Given the description of an element on the screen output the (x, y) to click on. 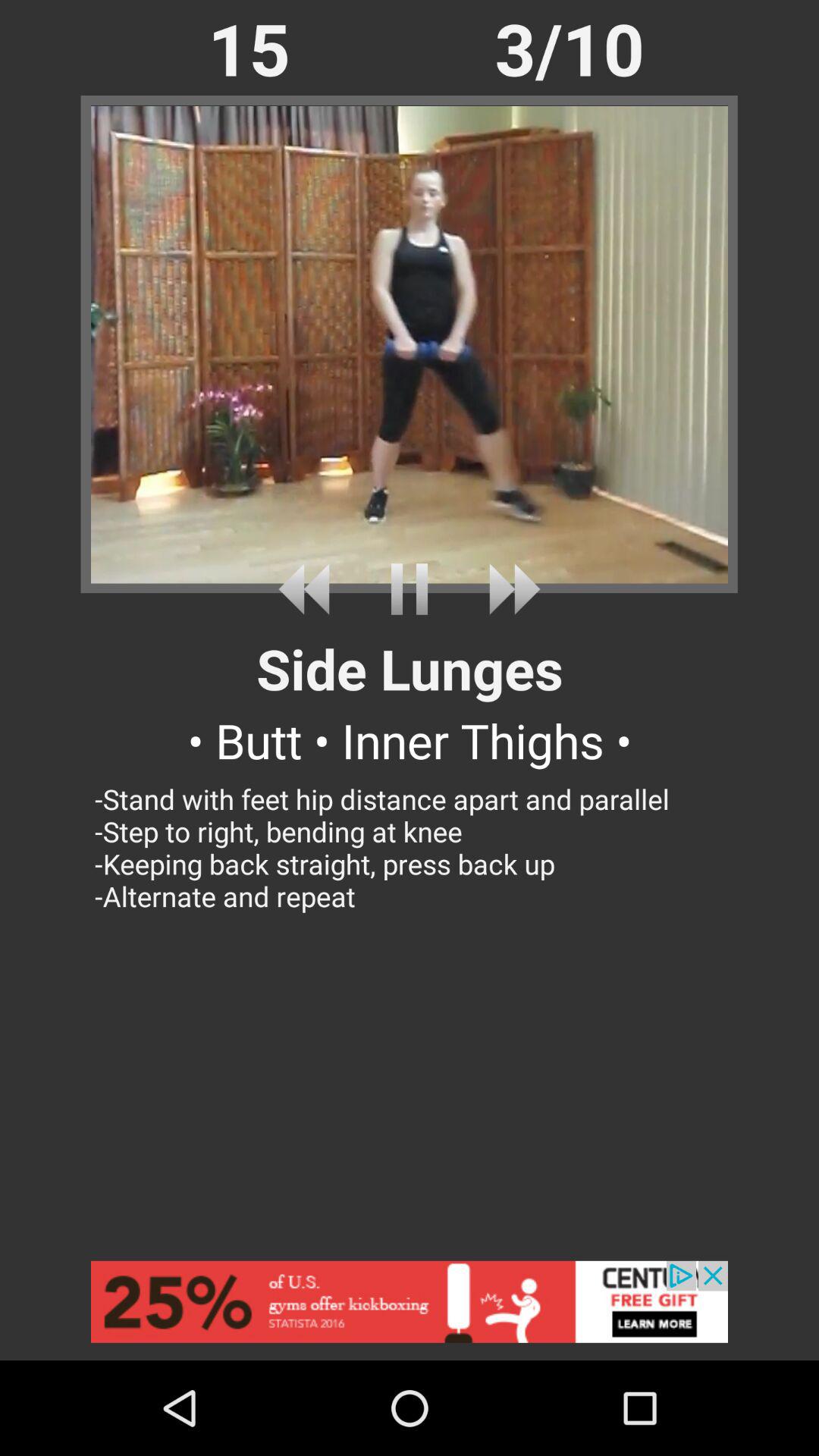
it is to preview the vedio or to open the previews vedio (309, 589)
